Given the description of an element on the screen output the (x, y) to click on. 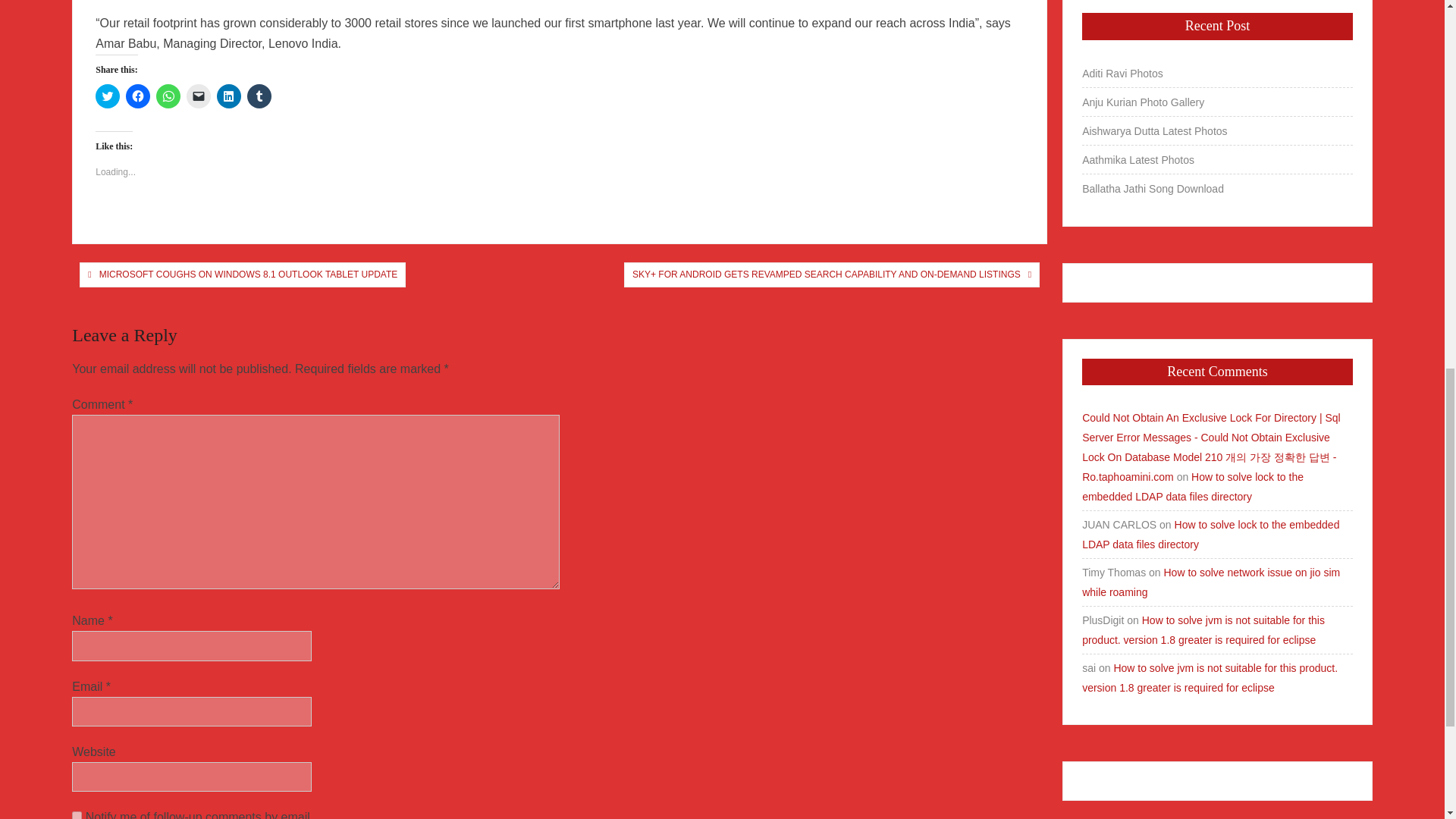
subscribe (76, 815)
Click to share on Facebook (137, 96)
Click to share on Twitter (107, 96)
